Given the description of an element on the screen output the (x, y) to click on. 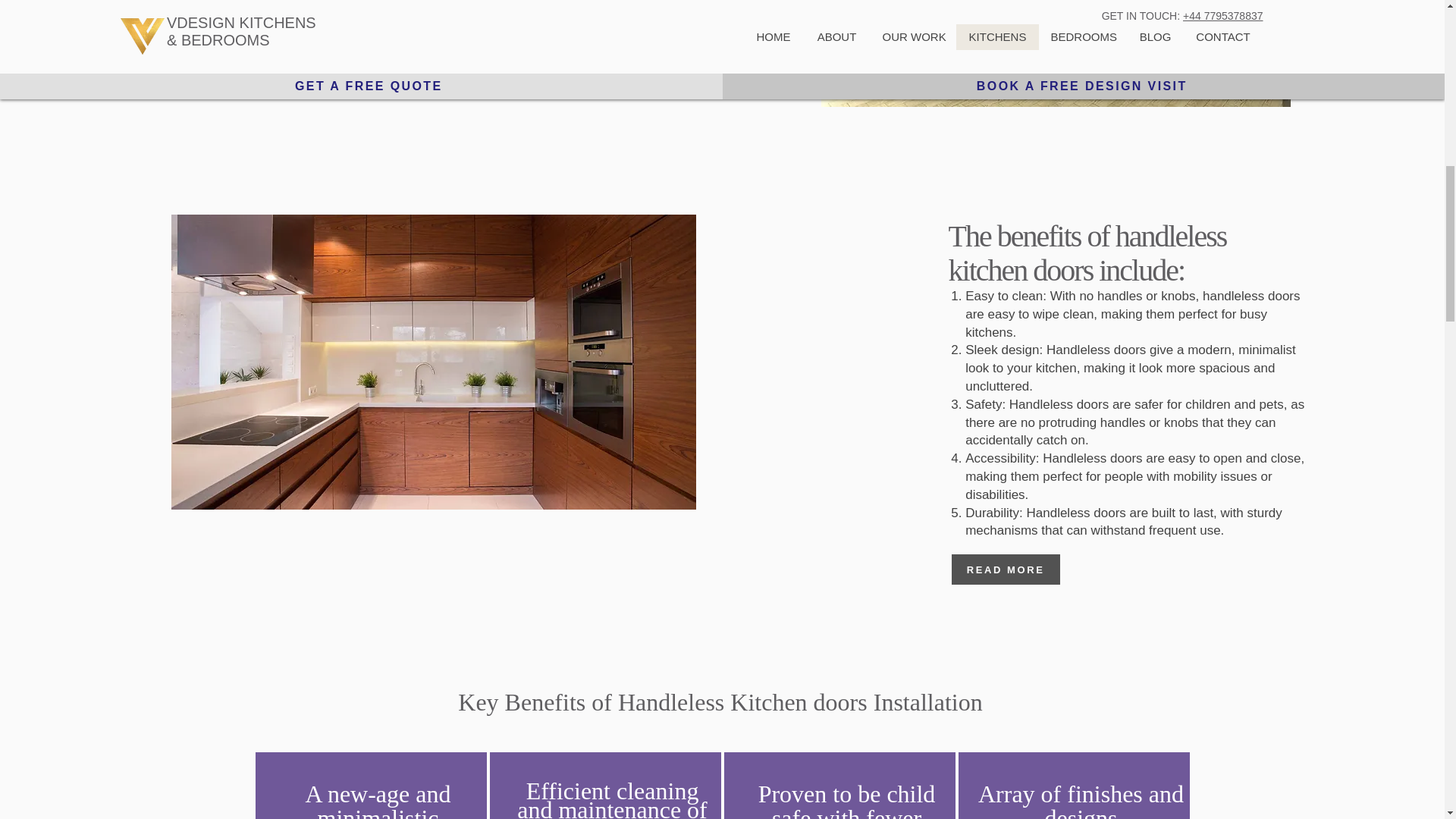
design visit.jpg (1055, 53)
READ MORE (1005, 569)
